Given the description of an element on the screen output the (x, y) to click on. 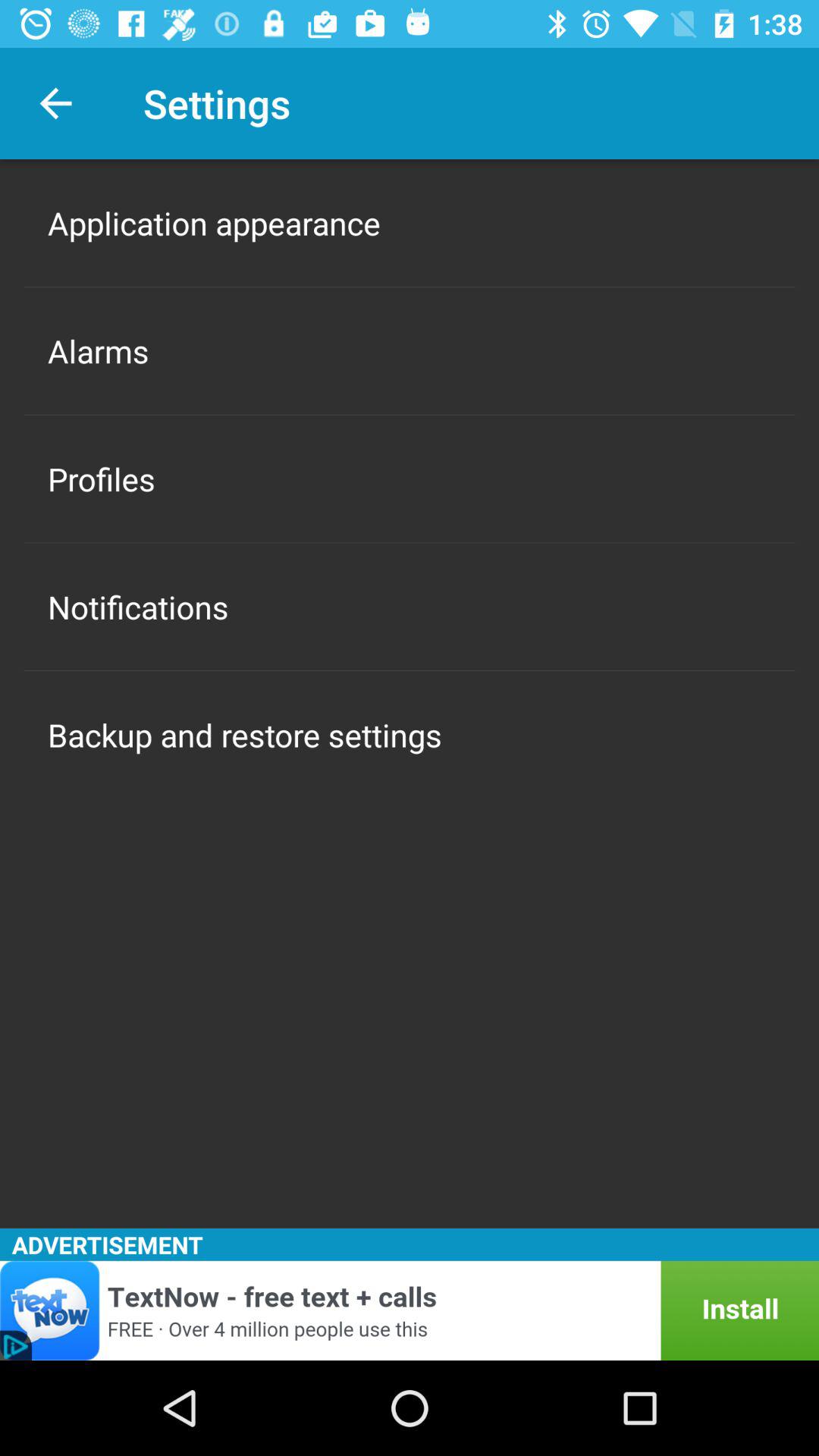
open the item below advertisement icon (409, 1310)
